Given the description of an element on the screen output the (x, y) to click on. 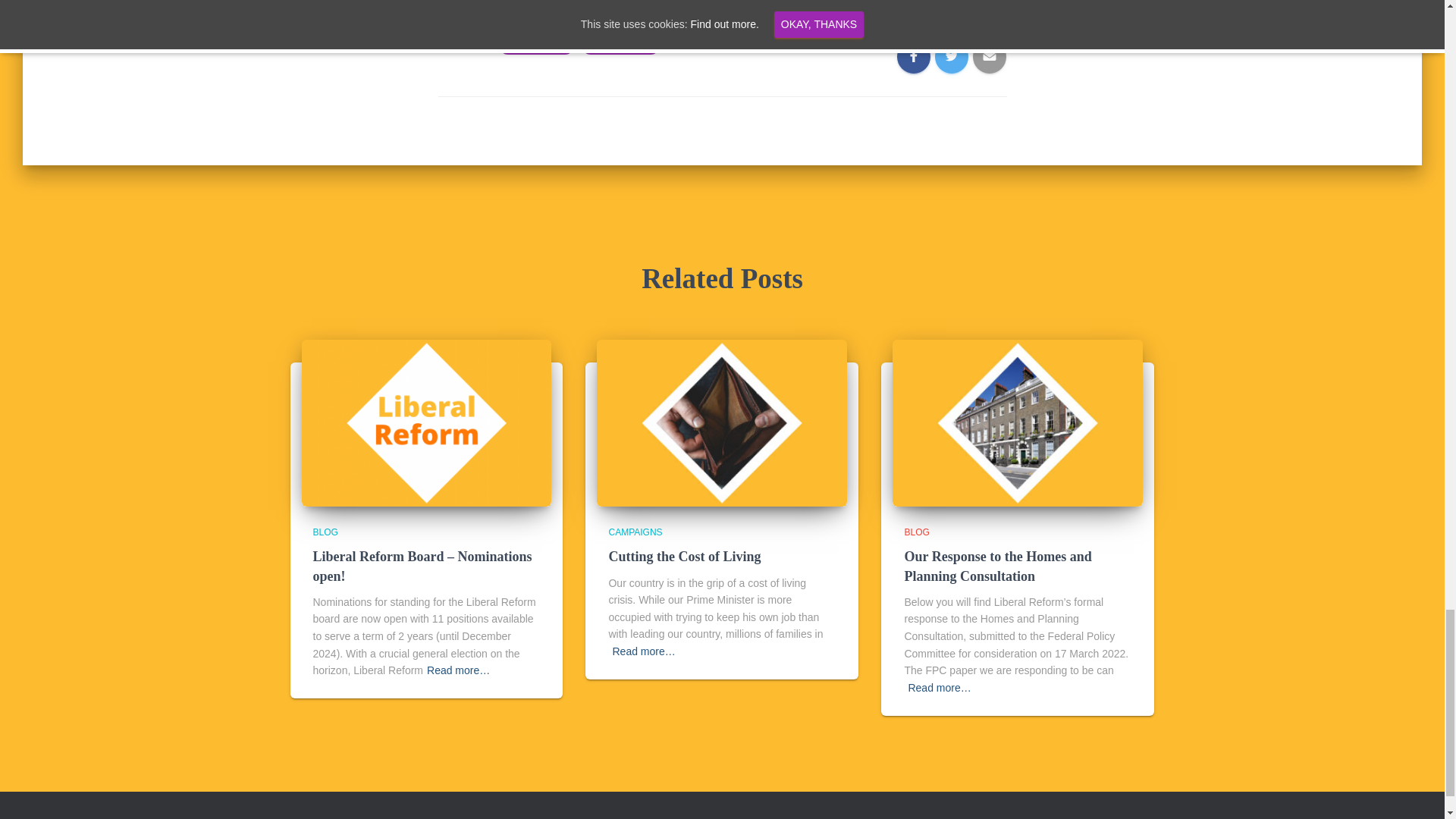
Our Response to the Homes and Planning Consultation (997, 565)
LATEST NEWS (536, 45)
CAMPAIGNS (635, 532)
BLOG (916, 532)
Cutting the Cost of Living (684, 556)
BLOG (325, 532)
